Given the description of an element on the screen output the (x, y) to click on. 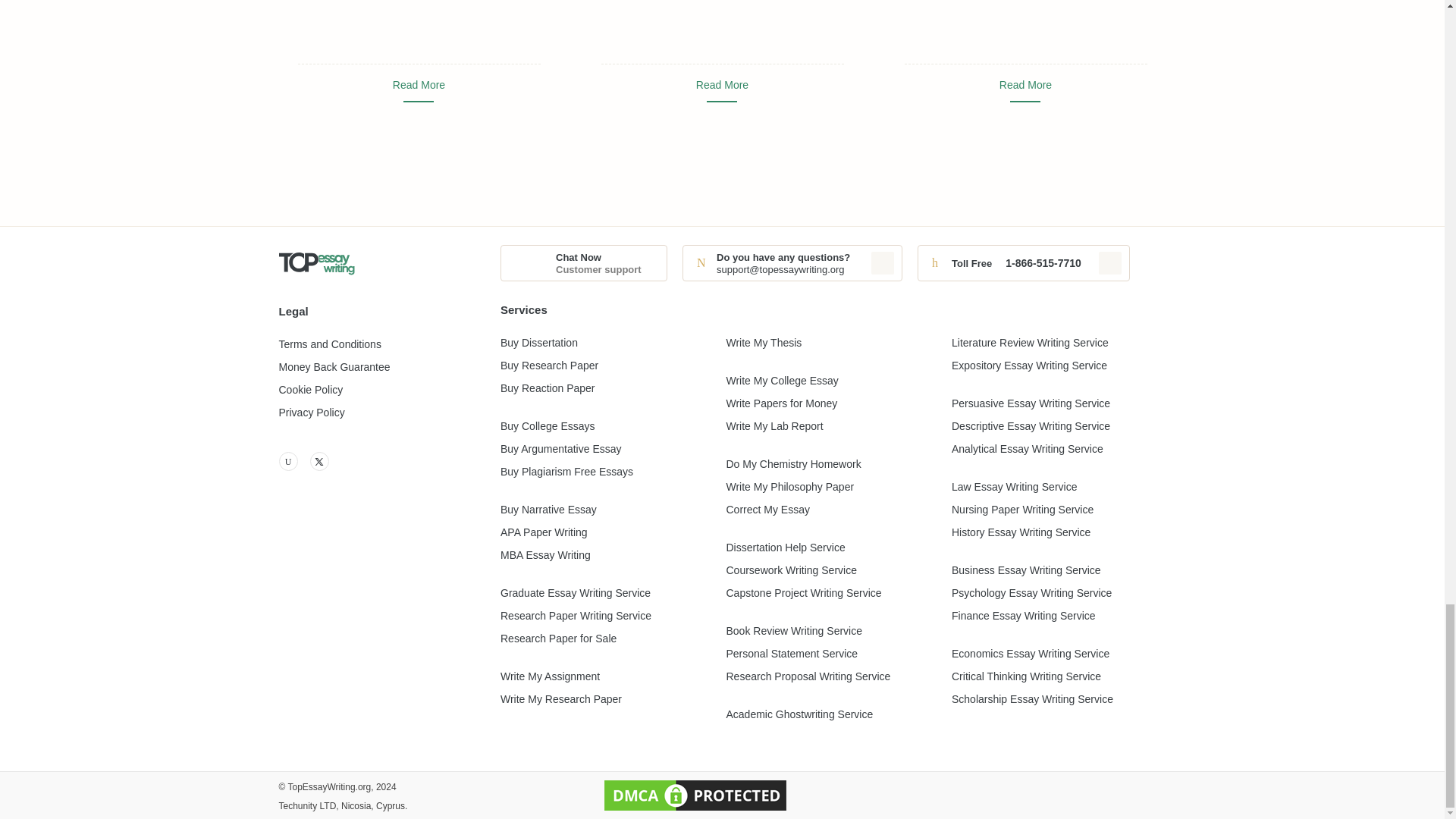
DMCA.com Protection Status (694, 795)
Copied to clipboard (1110, 262)
Copied to clipboard (881, 262)
